Given the description of an element on the screen output the (x, y) to click on. 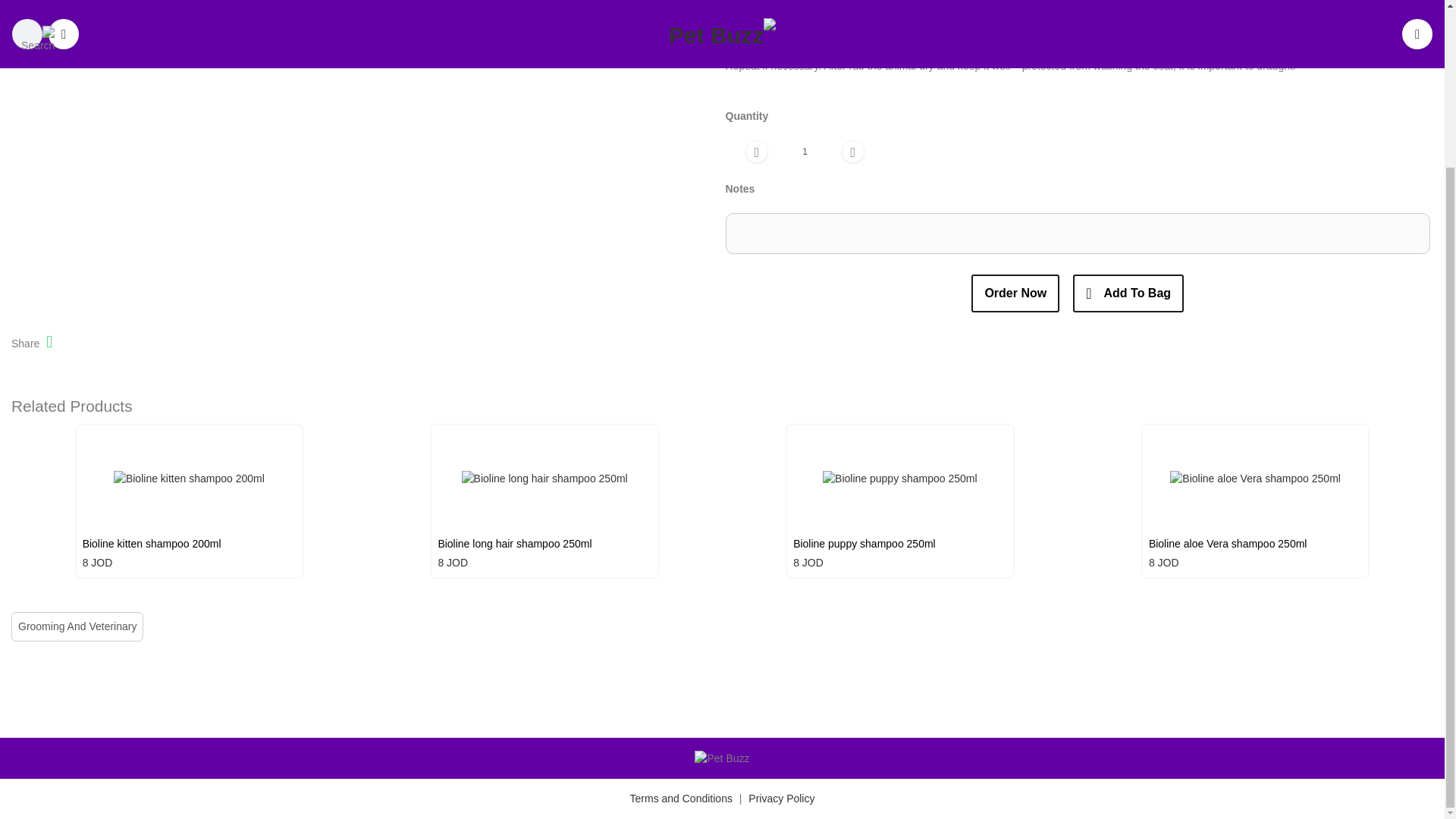
Bioline puppy shampoo 250ml (900, 546)
1 (804, 151)
Bioline kitten shampoo 200ml (189, 546)
Bioline long hair shampoo 250ml (544, 546)
Bioline aloe Vera shampoo 250ml (1255, 546)
